Given the description of an element on the screen output the (x, y) to click on. 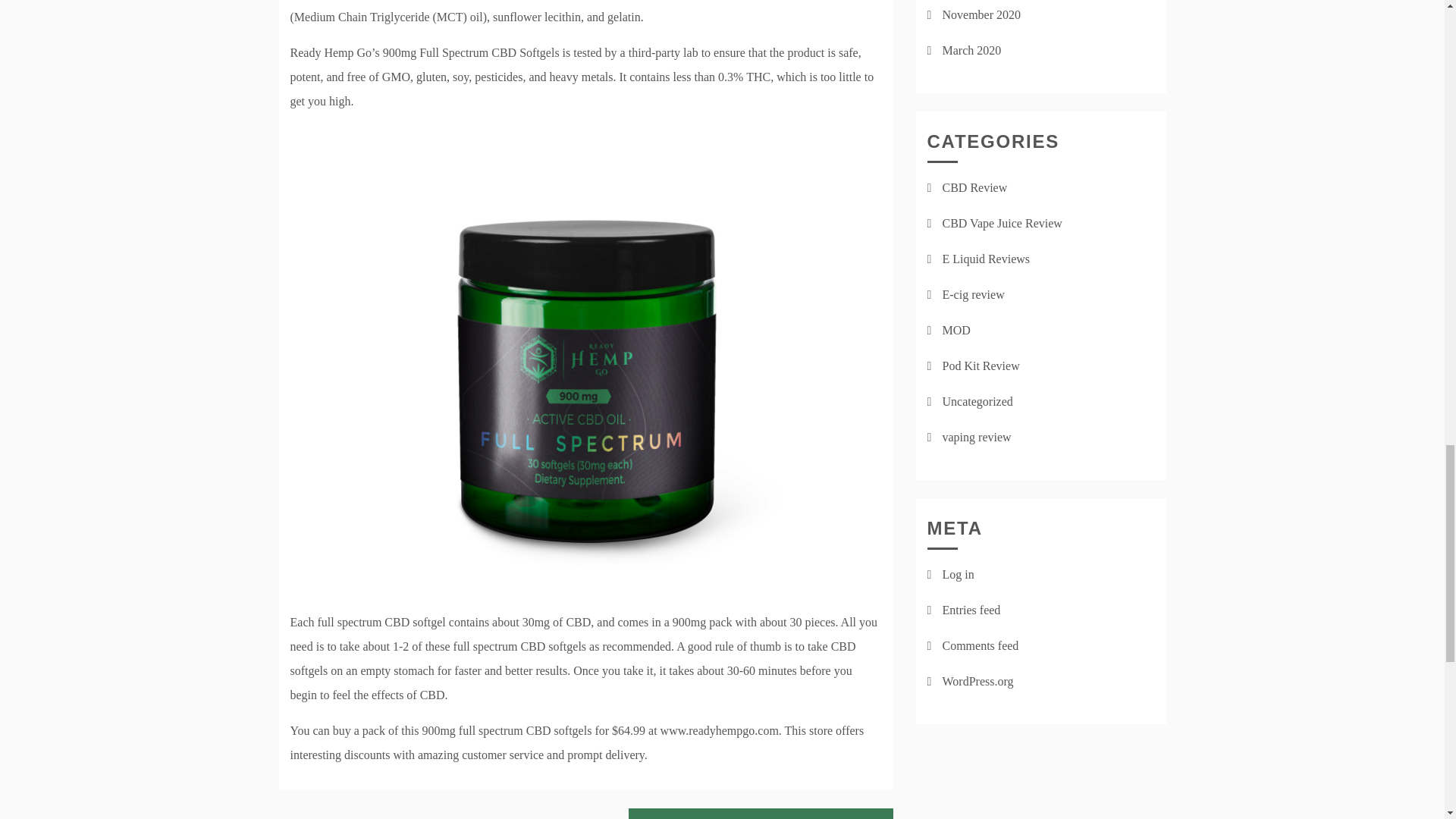
CBDfx Fruity Cereal CBD Vape Juice Review (760, 813)
